Given the description of an element on the screen output the (x, y) to click on. 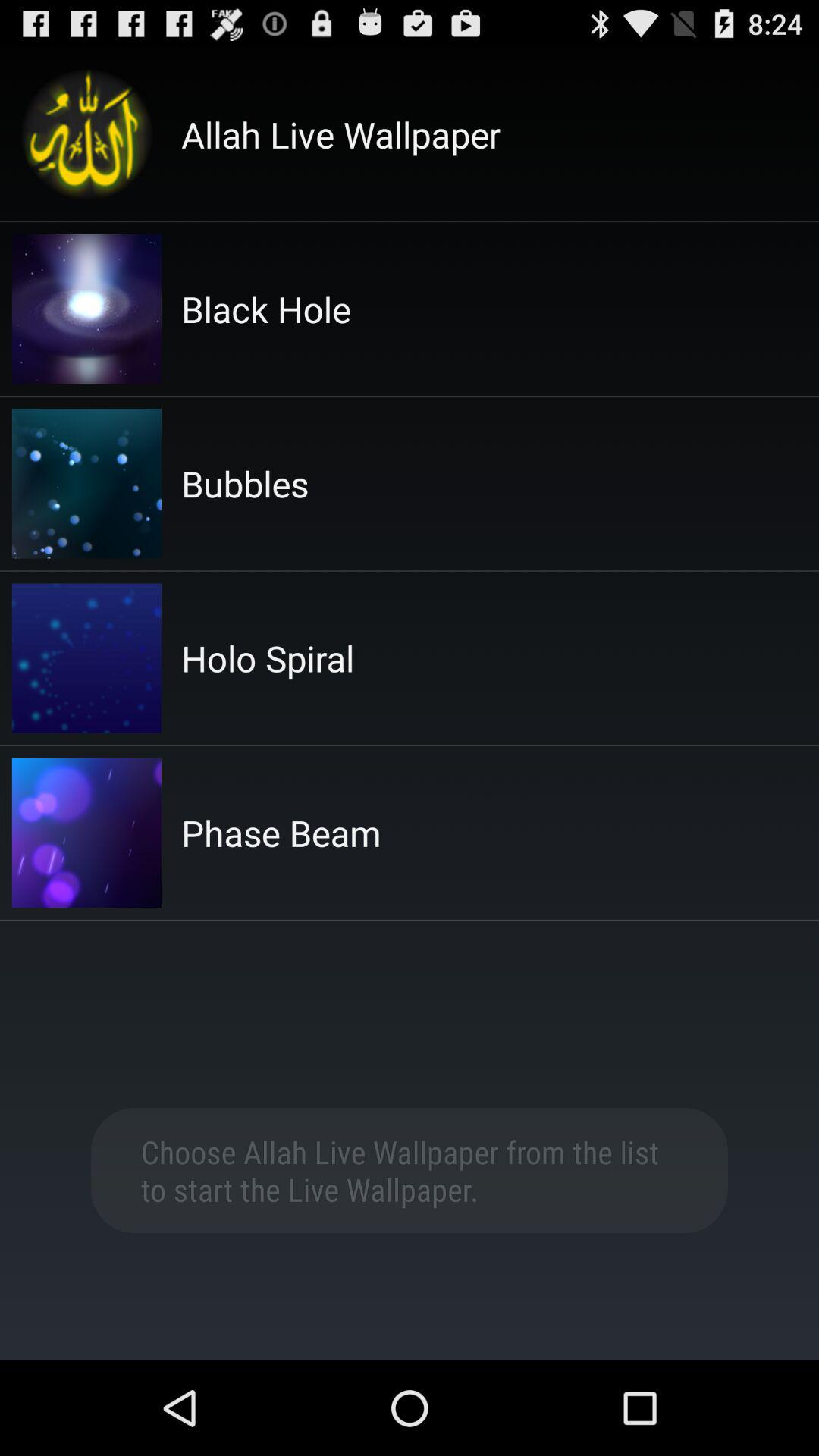
flip until the holo spiral icon (267, 658)
